Given the description of an element on the screen output the (x, y) to click on. 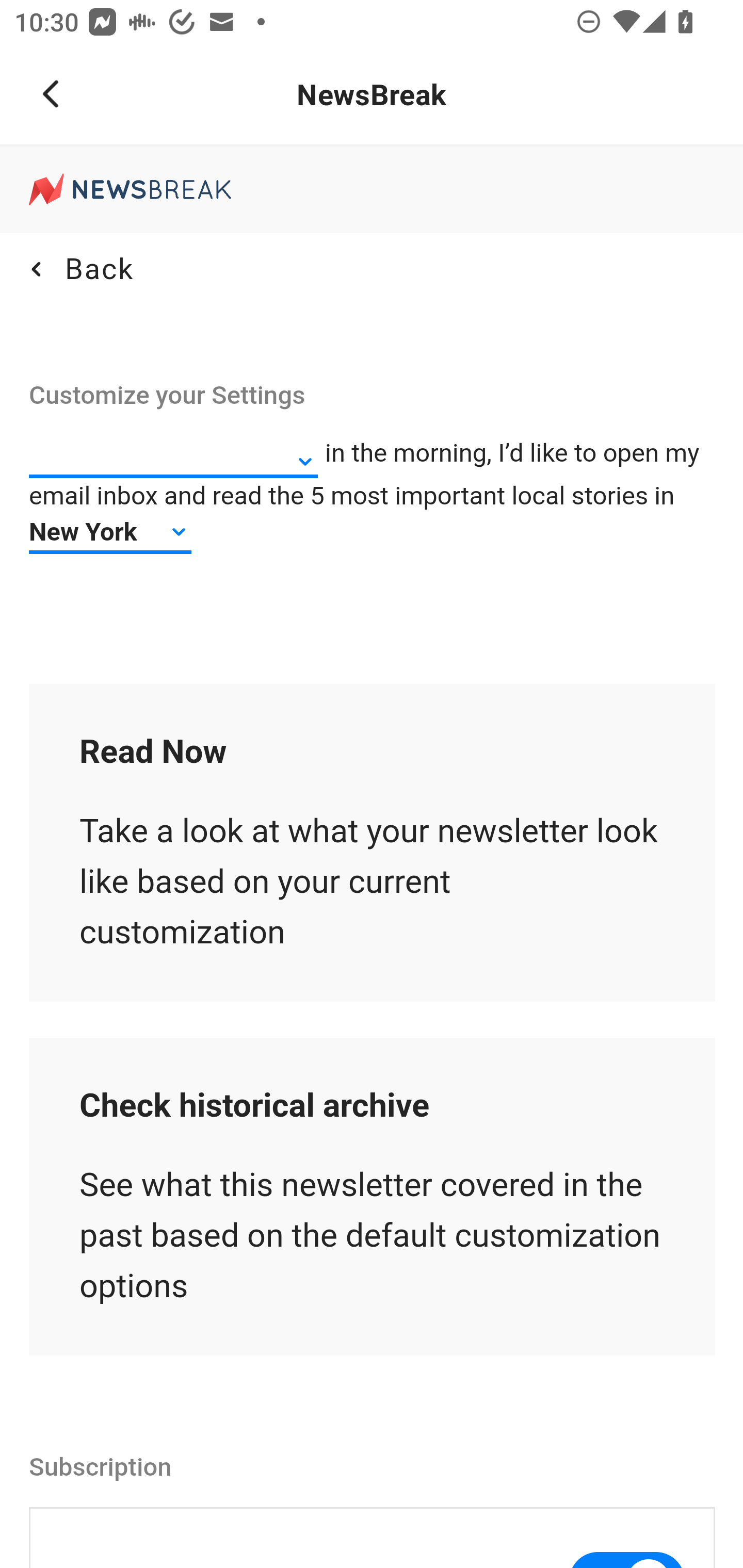
Navigate up (50, 93)
Back (78, 269)
Every day (173, 463)
New York (110, 531)
